Given the description of an element on the screen output the (x, y) to click on. 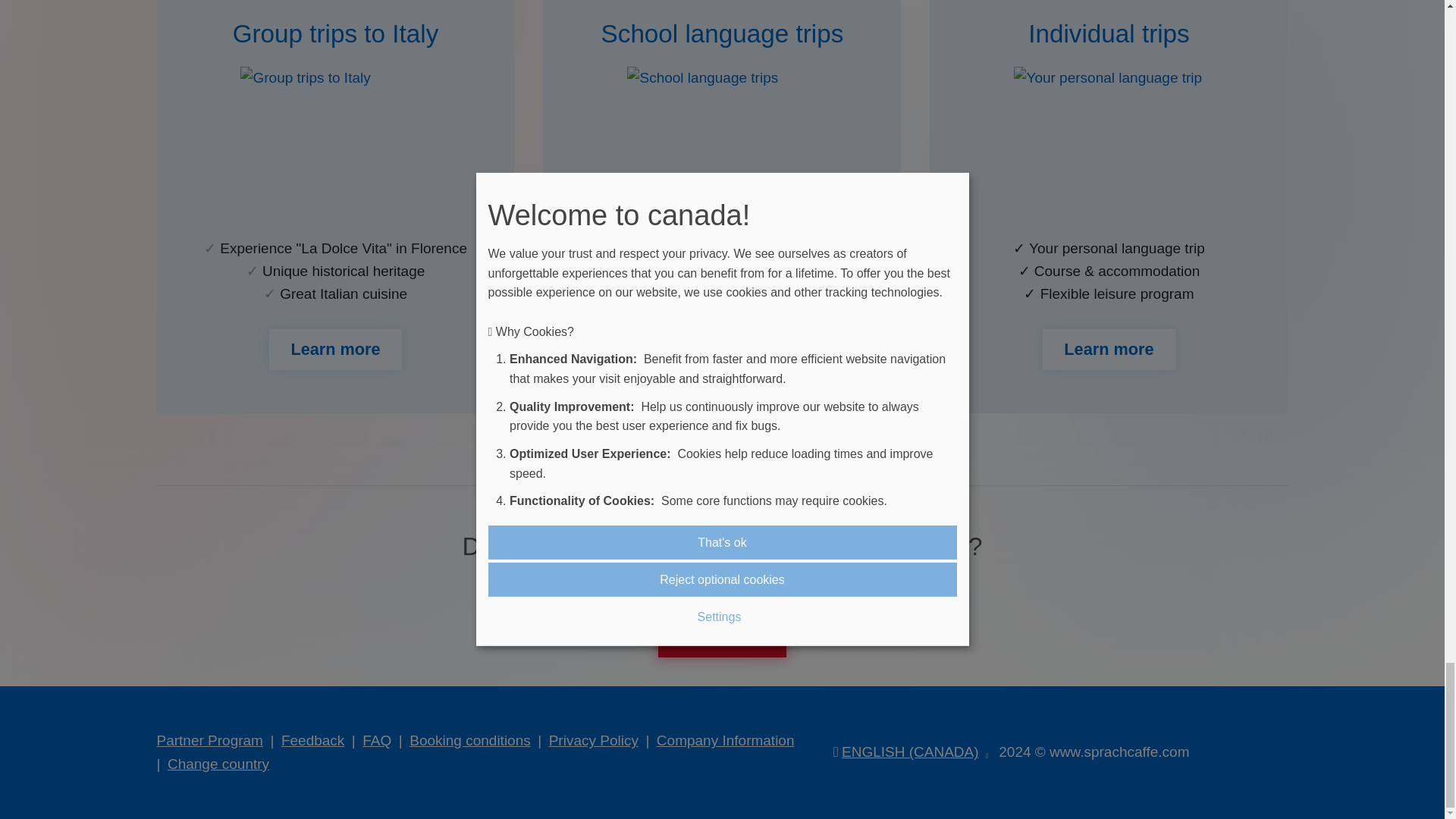
Privacy Policy (593, 740)
Learn more (335, 349)
Learn more (1108, 349)
Individual trips (1108, 33)
Feedback (312, 740)
Learn more (721, 349)
Contact us (722, 636)
FAQ (376, 740)
Company Information (725, 740)
School language trips (722, 33)
